Given the description of an element on the screen output the (x, y) to click on. 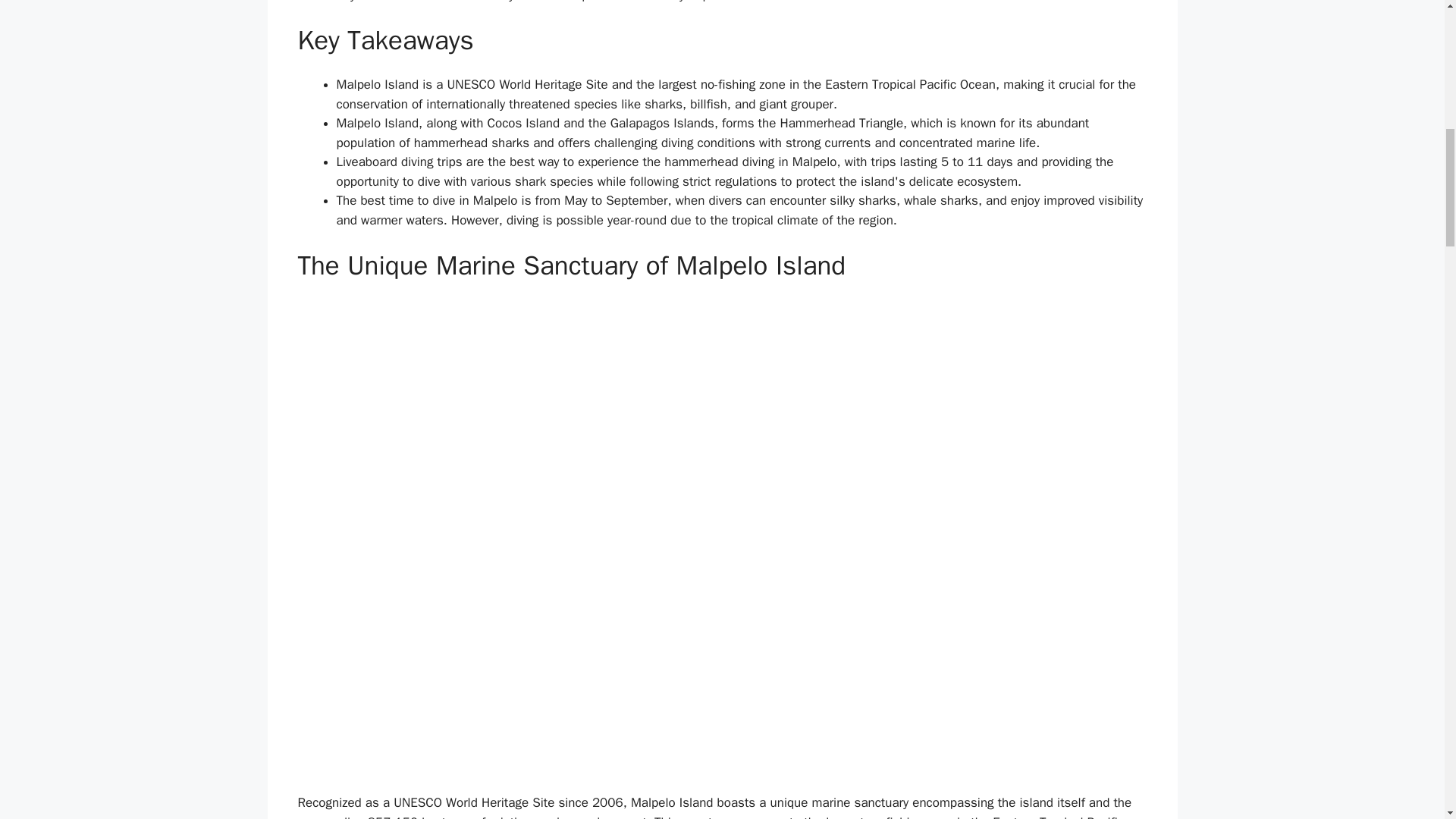
Scroll back to top (1406, 720)
